Given the description of an element on the screen output the (x, y) to click on. 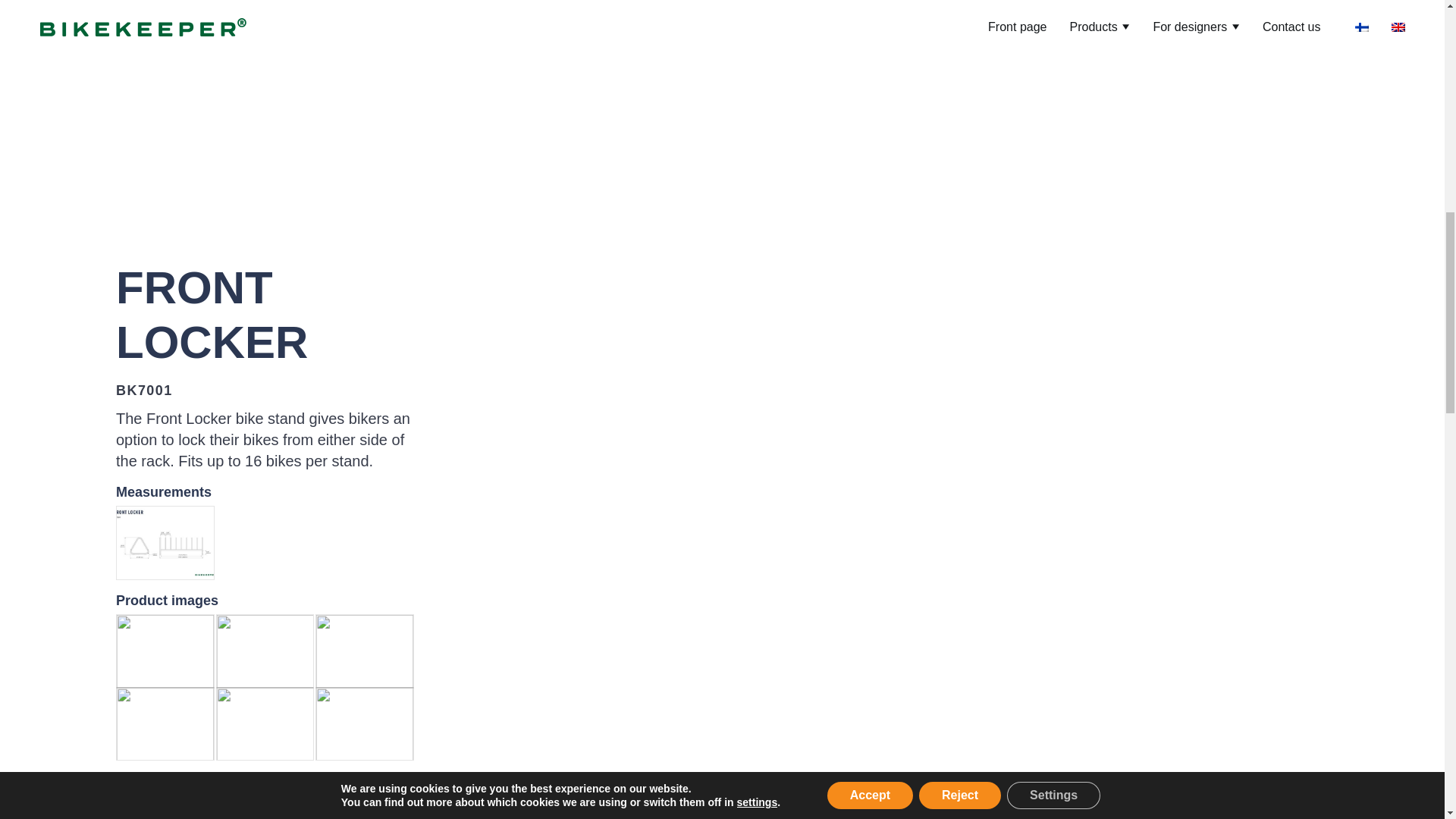
FRONT-LOCKER-006 (363, 723)
FRONT-LOCKER-005 (264, 723)
FRONT-LOCKER-004 (164, 651)
FRONT-LOCKER-003 (264, 651)
FRONT-LOCKER-001 (164, 723)
FRONT-LOCKER-002 (363, 651)
PRODUCT CARD (182, 786)
FRONT-LOCKER-DIMENSIONS (164, 542)
